Given the description of an element on the screen output the (x, y) to click on. 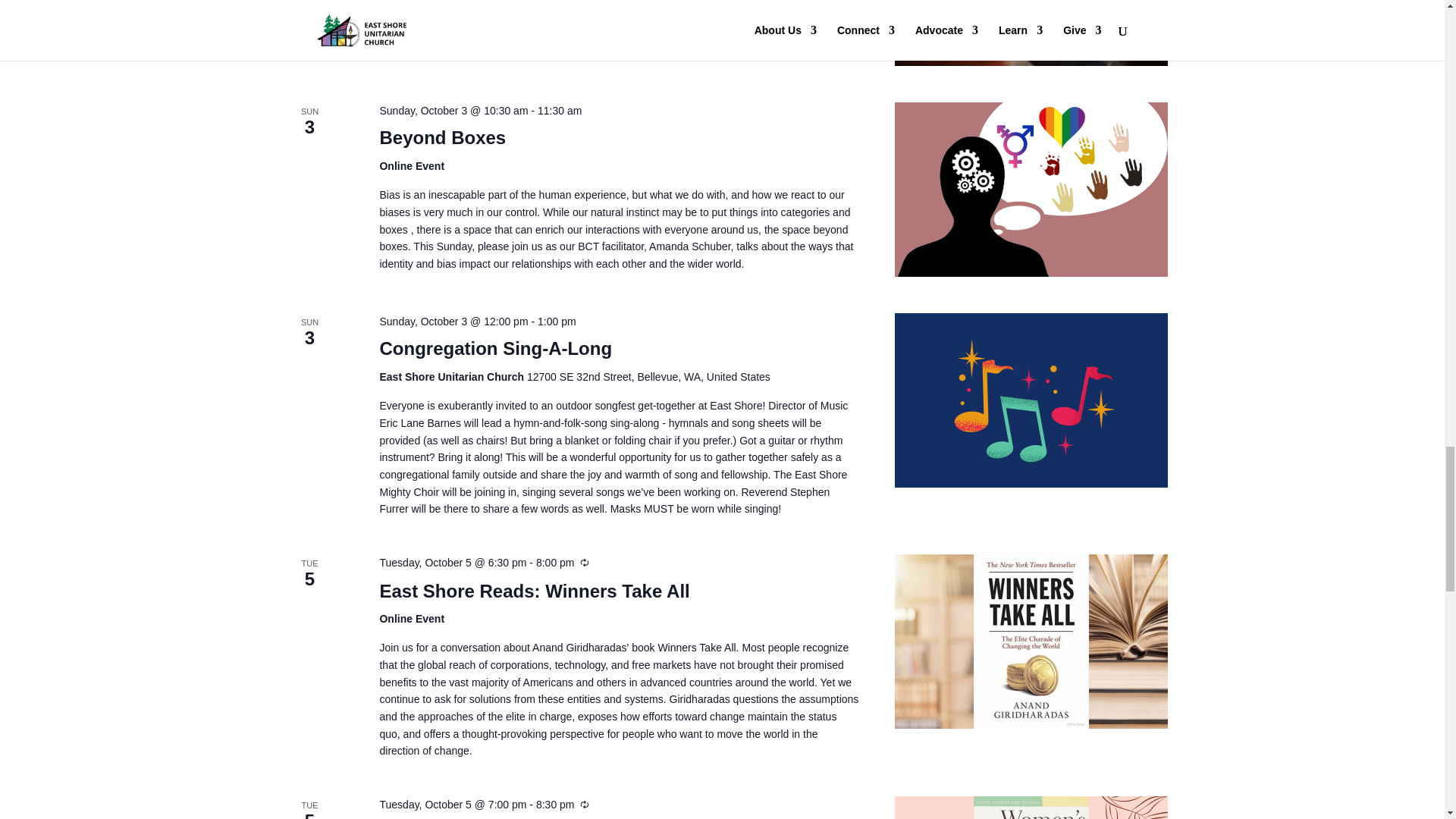
Recurring (584, 804)
Recurring (584, 562)
